Given the description of an element on the screen output the (x, y) to click on. 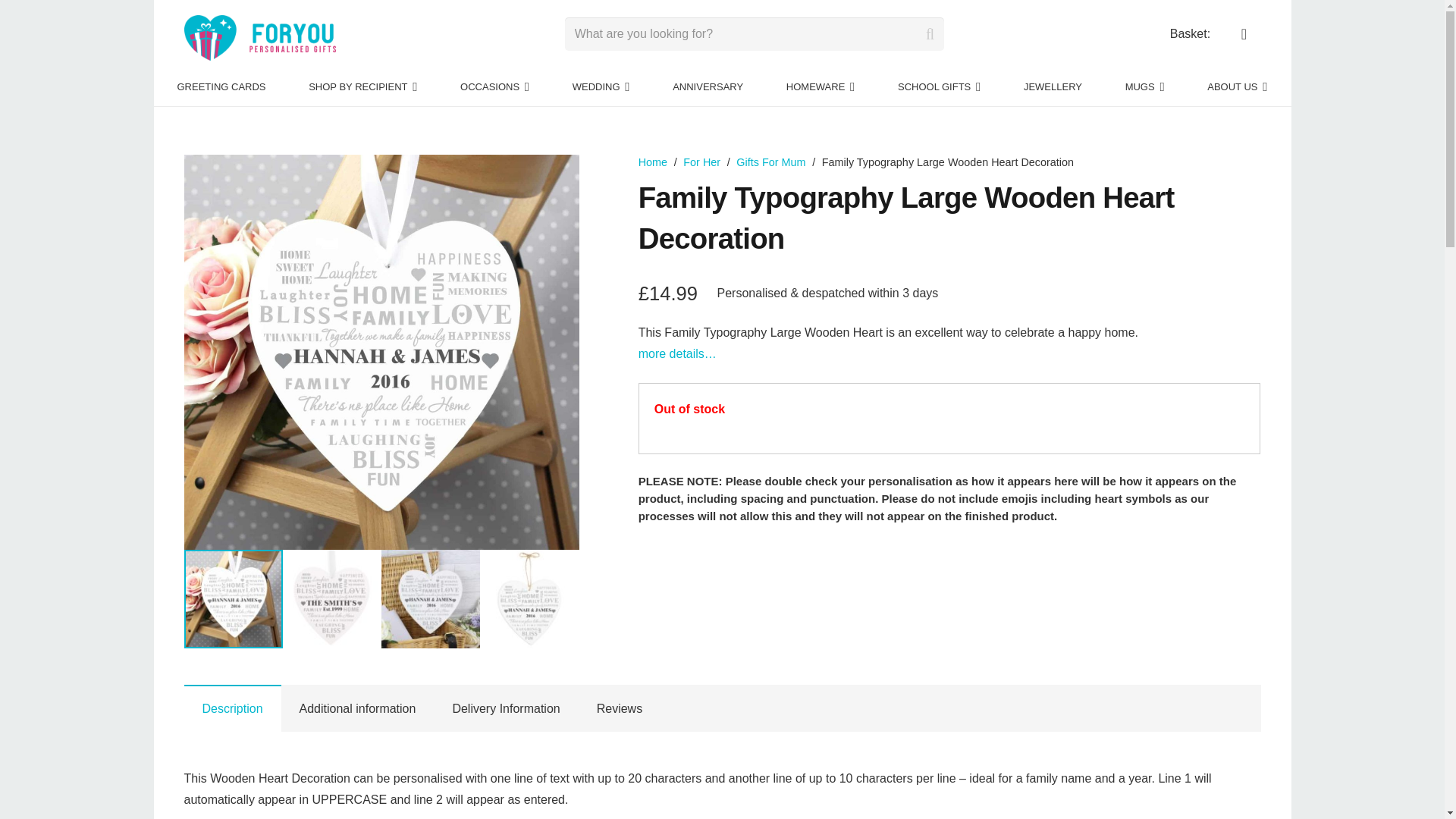
Basket: (1189, 33)
SHOP BY RECIPIENT (362, 86)
OCCASIONS (494, 86)
Family Typography Large Wooden Heart Decoration (259, 37)
GREETING CARDS (220, 86)
